Given the description of an element on the screen output the (x, y) to click on. 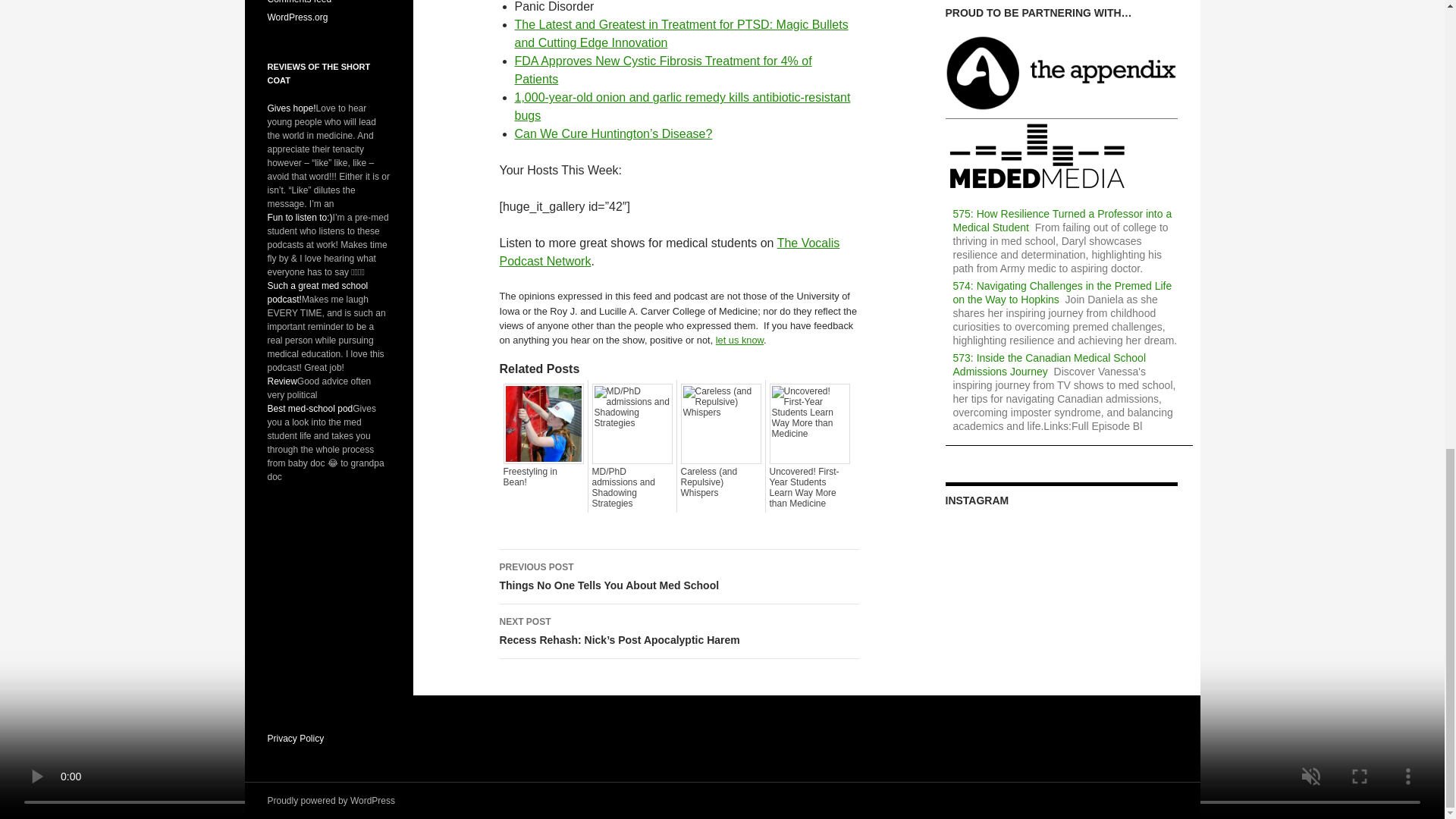
Talk to Us! (739, 339)
let us know (739, 339)
The Vocalis Podcast Network (669, 251)
Freestyling in Bean! (543, 476)
